Given the description of an element on the screen output the (x, y) to click on. 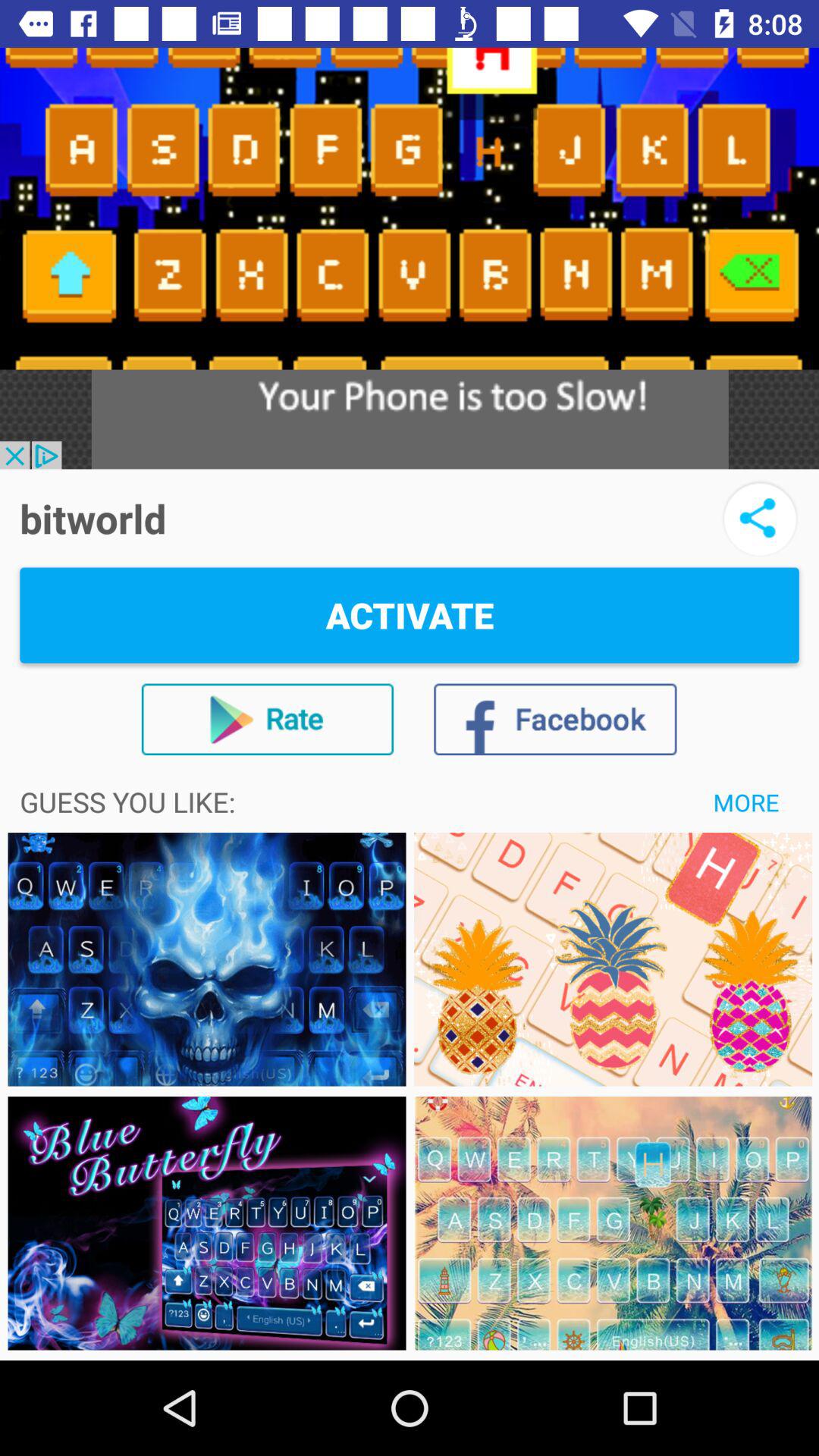
jump until the activate (409, 615)
